Given the description of an element on the screen output the (x, y) to click on. 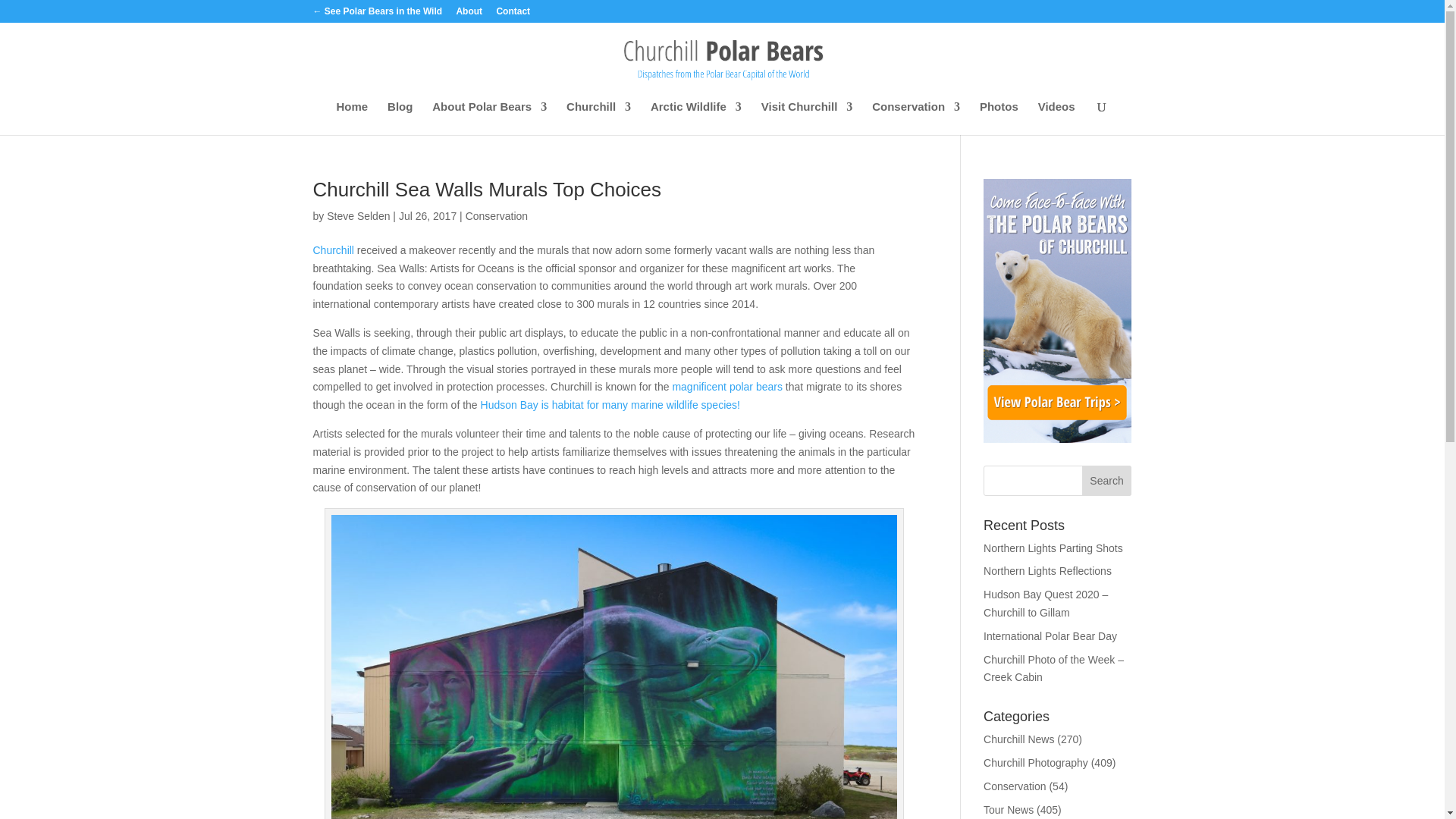
Visit Churchill (807, 117)
About (468, 14)
Posts by Steve Selden (358, 215)
Arctic Wildlife (695, 117)
Search (1106, 481)
Contact (512, 14)
Churchill (598, 117)
Conservation (915, 117)
About Polar Bears (489, 117)
Home (352, 117)
